Given the description of an element on the screen output the (x, y) to click on. 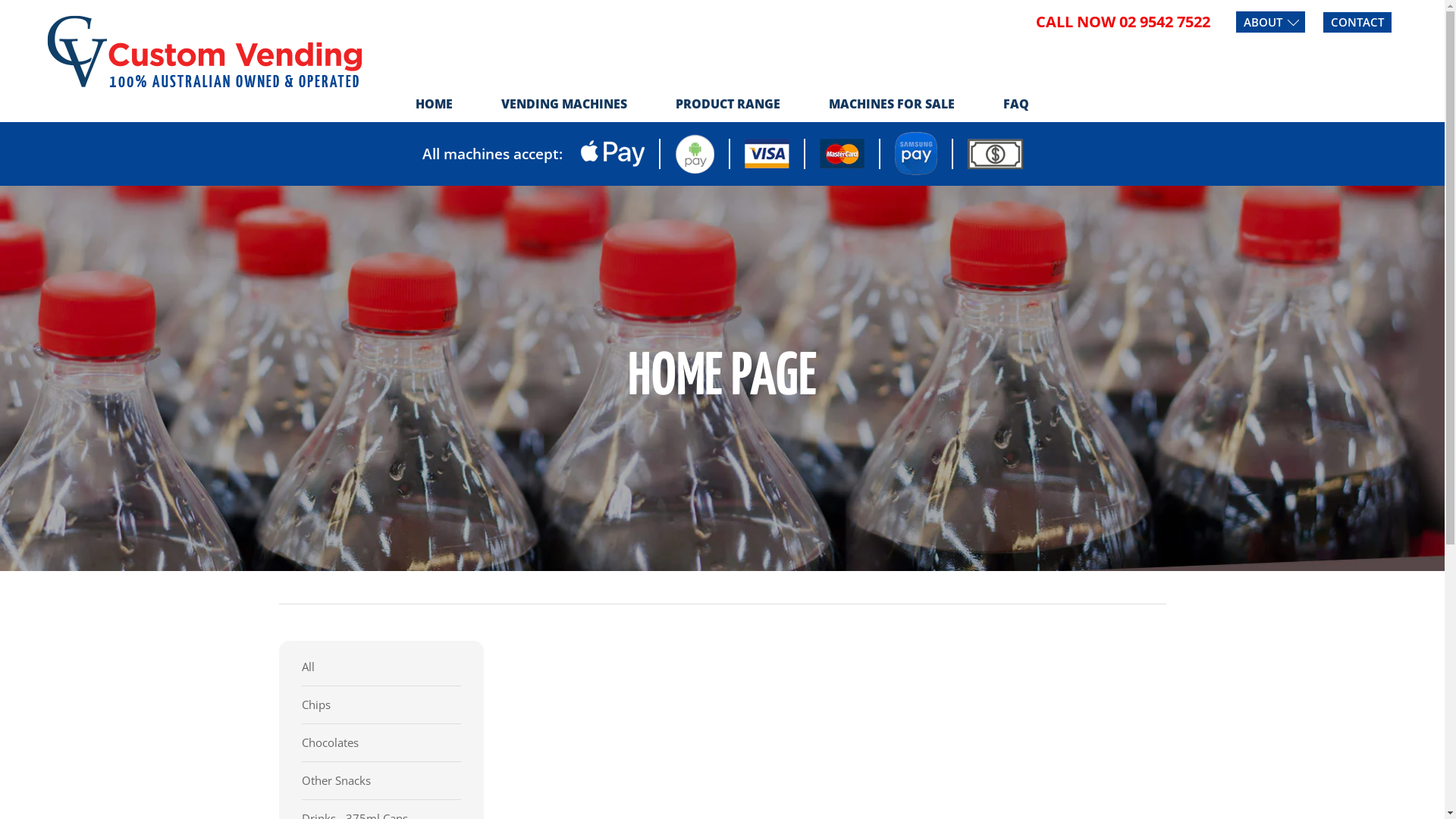
All Element type: text (381, 667)
VENDING MACHINES Element type: text (563, 103)
Chips Element type: text (381, 705)
MACHINES FOR SALE Element type: text (891, 103)
PRODUCT RANGE Element type: text (727, 103)
Chocolates Element type: text (381, 743)
Custom Vending Element type: hover (204, 49)
FAQ Element type: text (1015, 103)
ABOUT Element type: text (1270, 21)
HOME Element type: text (433, 103)
CALL NOW 02 9542 7522 Element type: text (1122, 21)
CONTACT Element type: text (1357, 22)
Other Snacks Element type: text (381, 781)
